Given the description of an element on the screen output the (x, y) to click on. 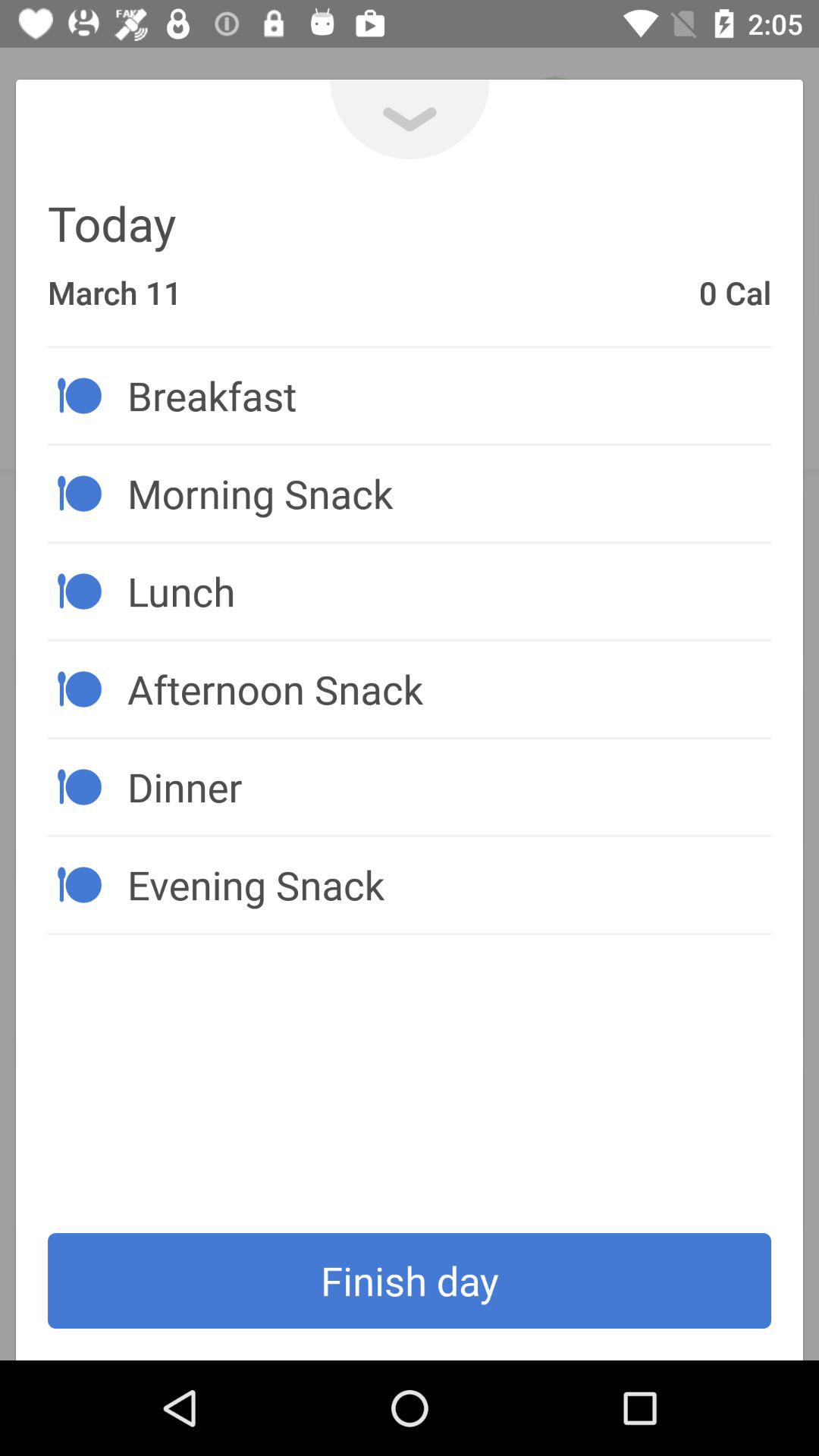
turn off item above dinner icon (449, 688)
